Given the description of an element on the screen output the (x, y) to click on. 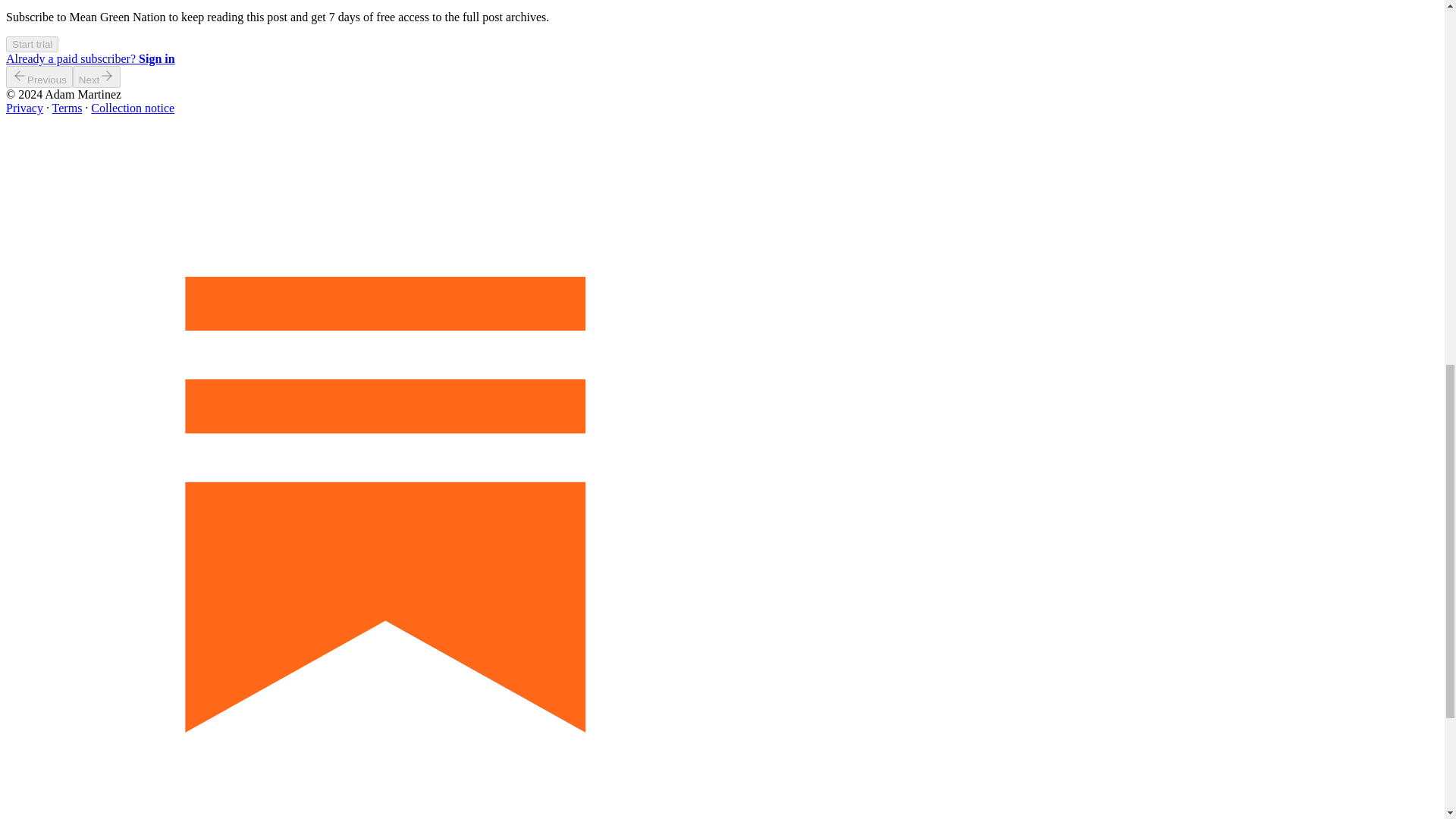
Already a paid subscriber? Sign in (89, 58)
Start trial (31, 42)
Start trial (31, 44)
Next (96, 76)
Collection notice (132, 107)
Terms (67, 107)
Previous (38, 76)
Privacy (24, 107)
